Given the description of an element on the screen output the (x, y) to click on. 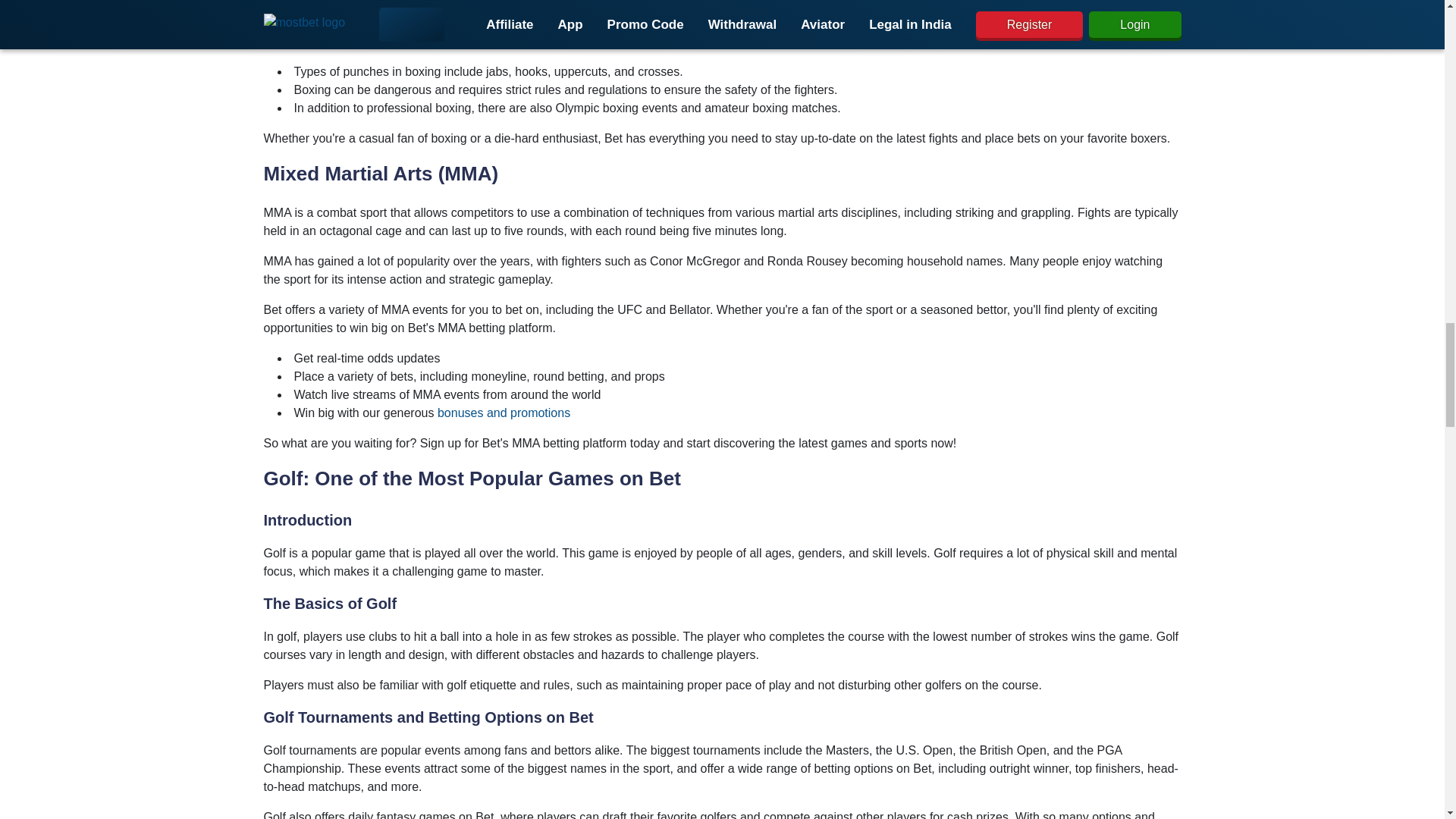
bonuses and promotions (504, 412)
and never miss (954, 22)
